Given the description of an element on the screen output the (x, y) to click on. 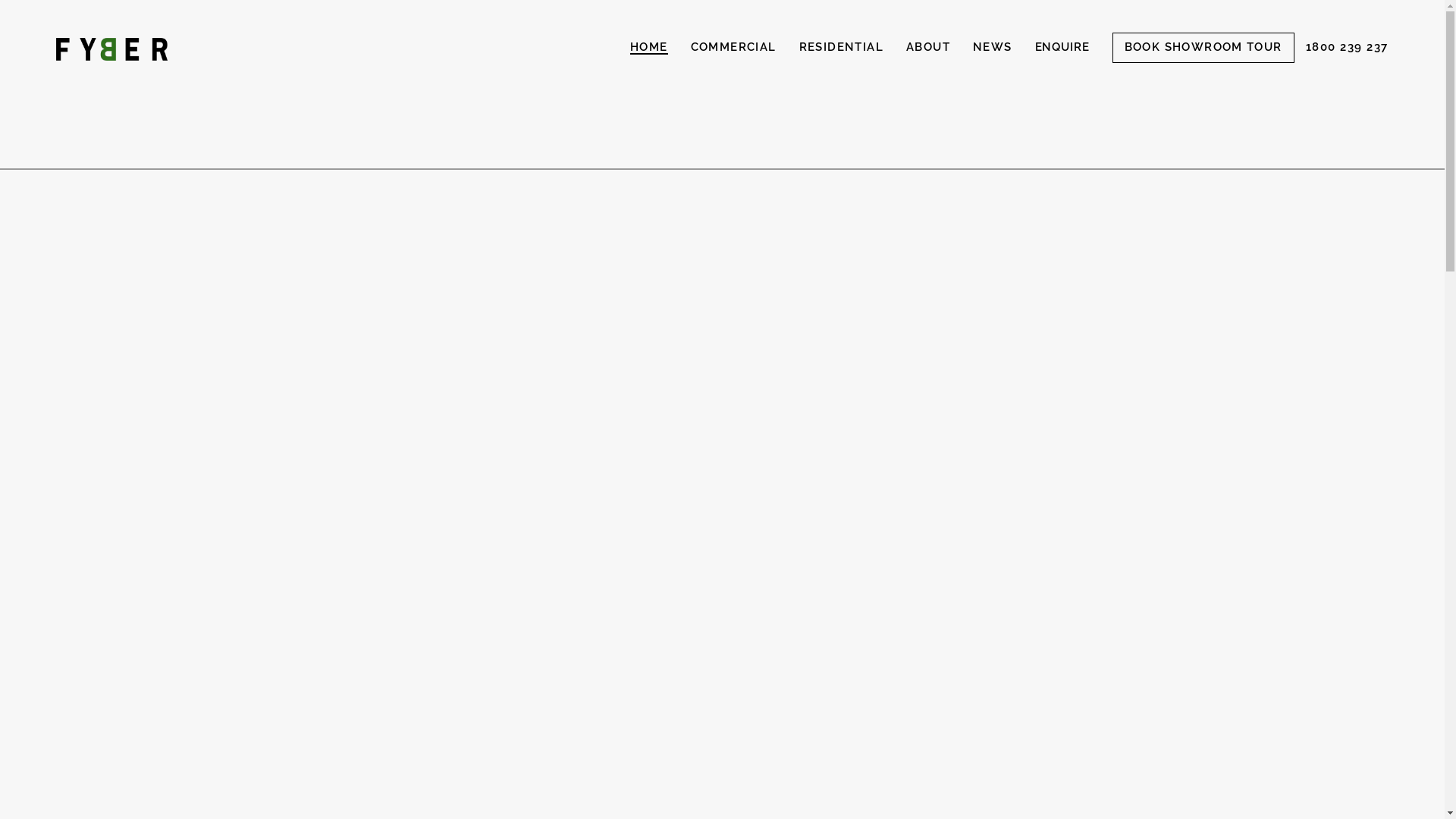
NEWS Element type: text (992, 47)
1800 239 237 Element type: text (1346, 47)
ENQUIRE Element type: text (1062, 47)
ABOUT Element type: text (928, 47)
COMMERCIAL Element type: text (733, 47)
RESIDENTIAL Element type: text (841, 47)
BOOK SHOWROOM TOUR Element type: text (1202, 47)
HOME Element type: text (649, 47)
